Given the description of an element on the screen output the (x, y) to click on. 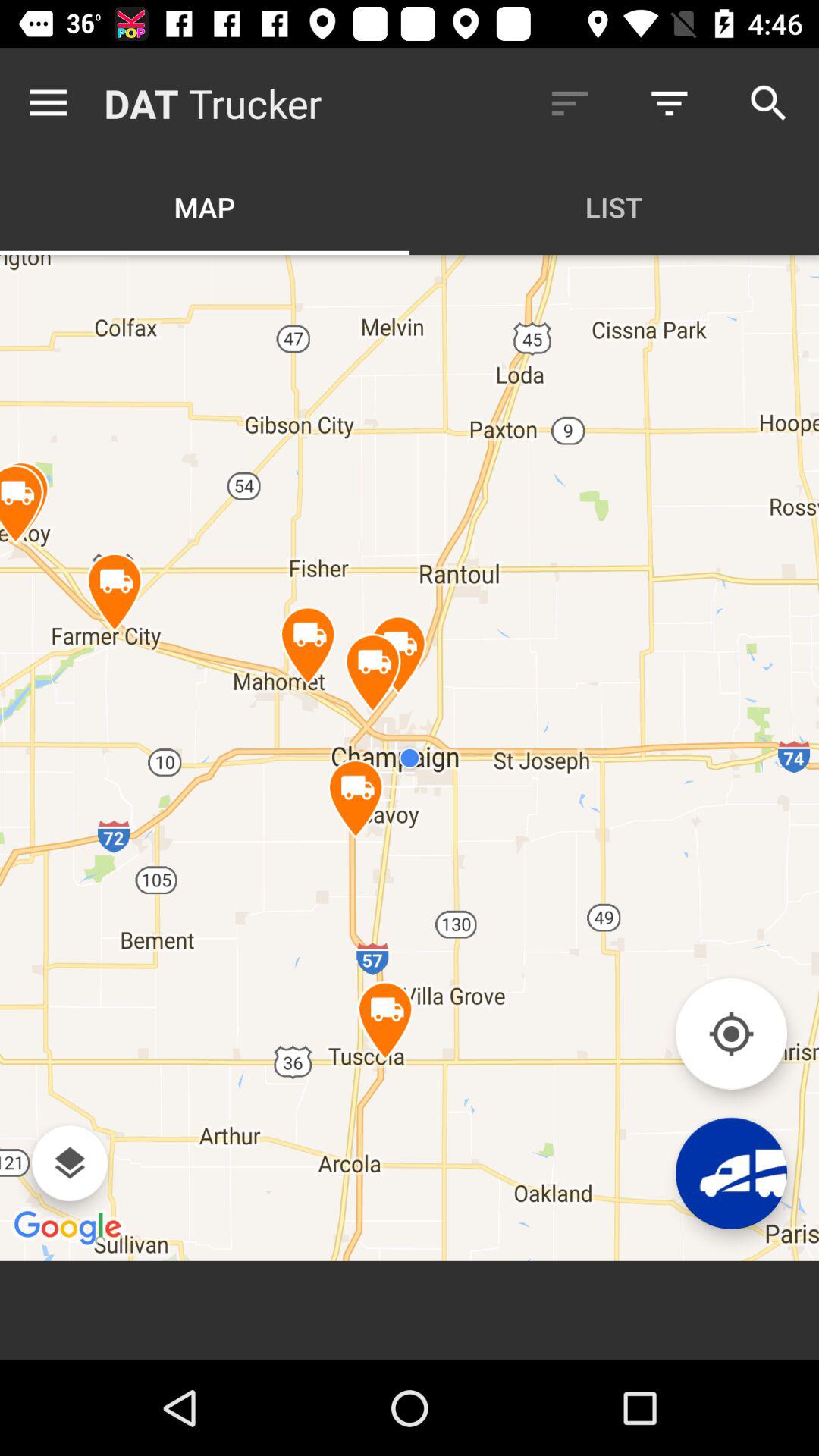
launch the item above the list (569, 103)
